Given the description of an element on the screen output the (x, y) to click on. 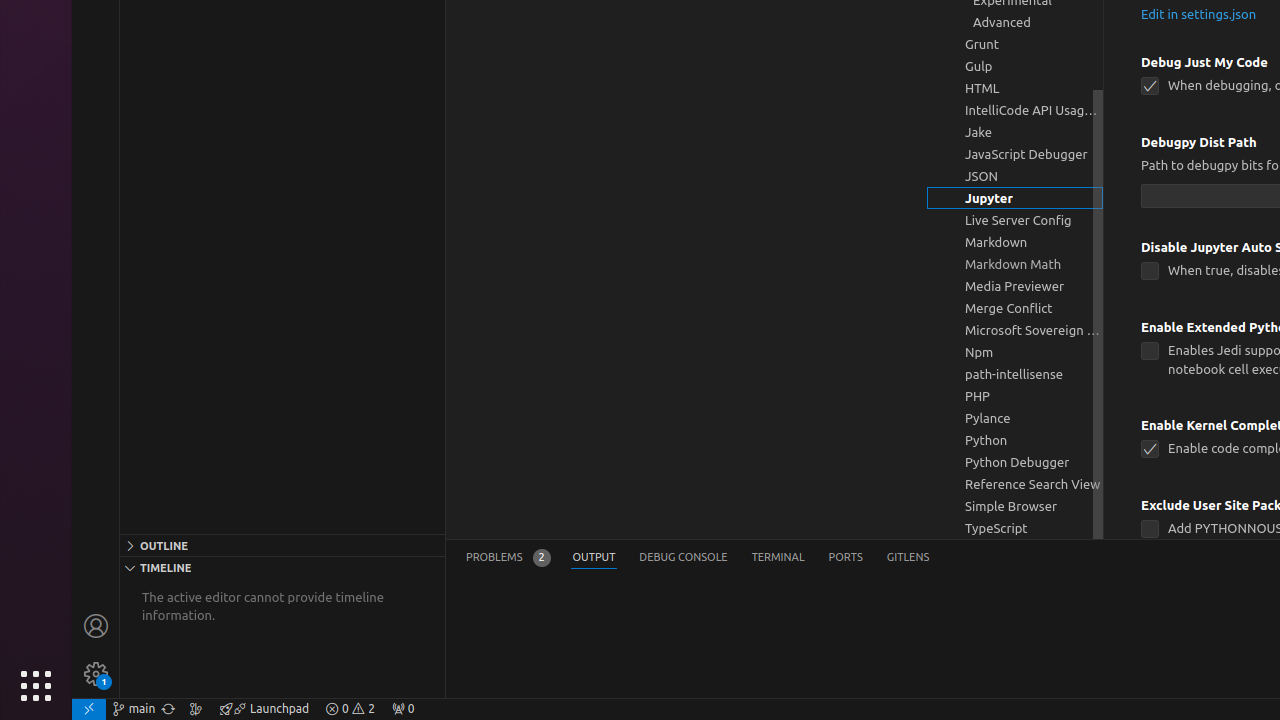
GitLens Element type: page-tab (908, 557)
More Actions... (Shift+F9) Element type: push-button (1116, 503)
Npm, group Element type: tree-item (1015, 352)
path-intellisense, group Element type: tree-item (1015, 374)
Simple Browser, group Element type: tree-item (1015, 506)
